Given the description of an element on the screen output the (x, y) to click on. 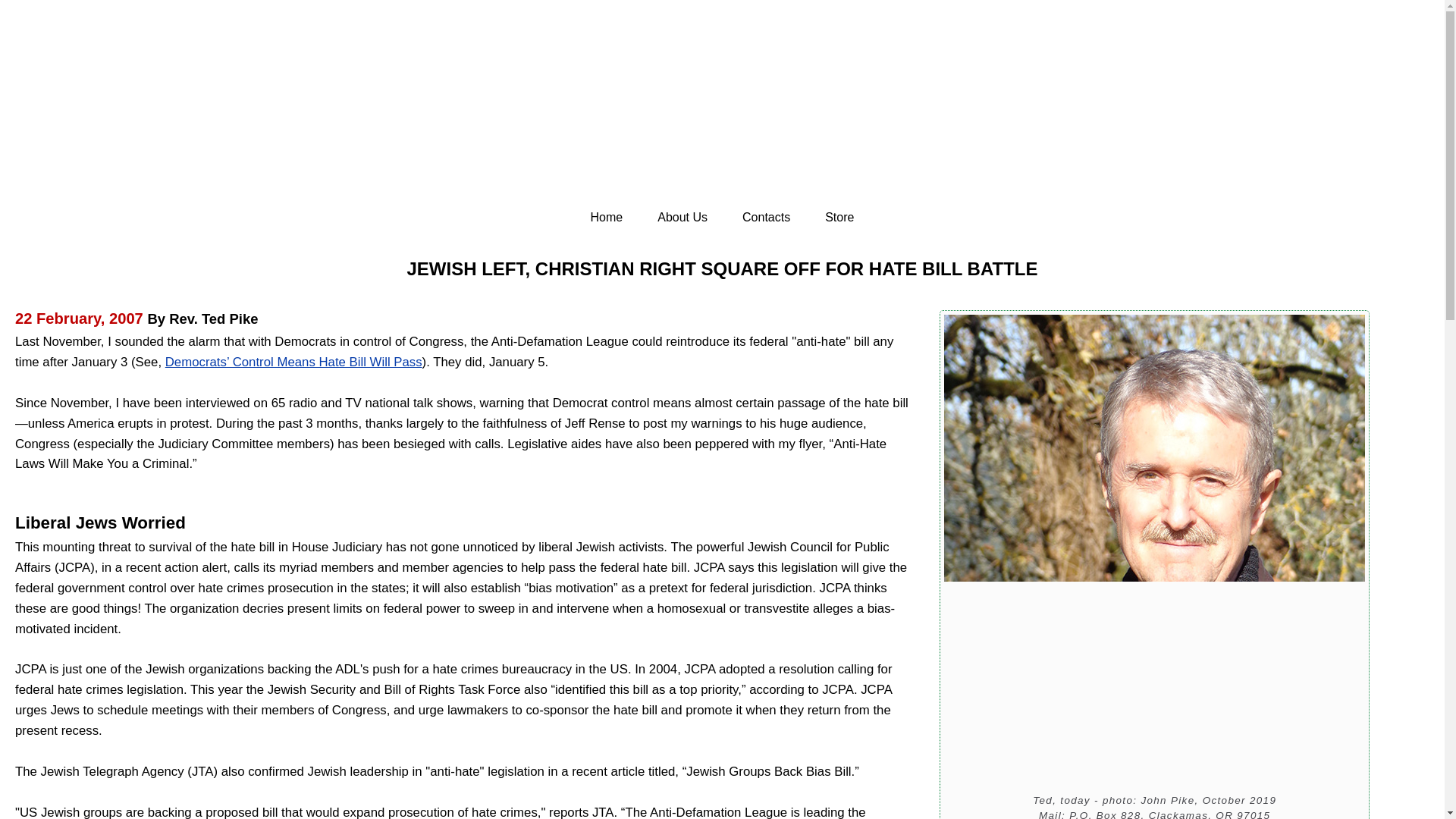
Click here for our home page. (721, 117)
Contacts (765, 217)
Click here for the article. (293, 361)
Store (839, 217)
Home (607, 217)
About Us (682, 217)
National Prayer Network and Truthtellers.org (721, 117)
